Given the description of an element on the screen output the (x, y) to click on. 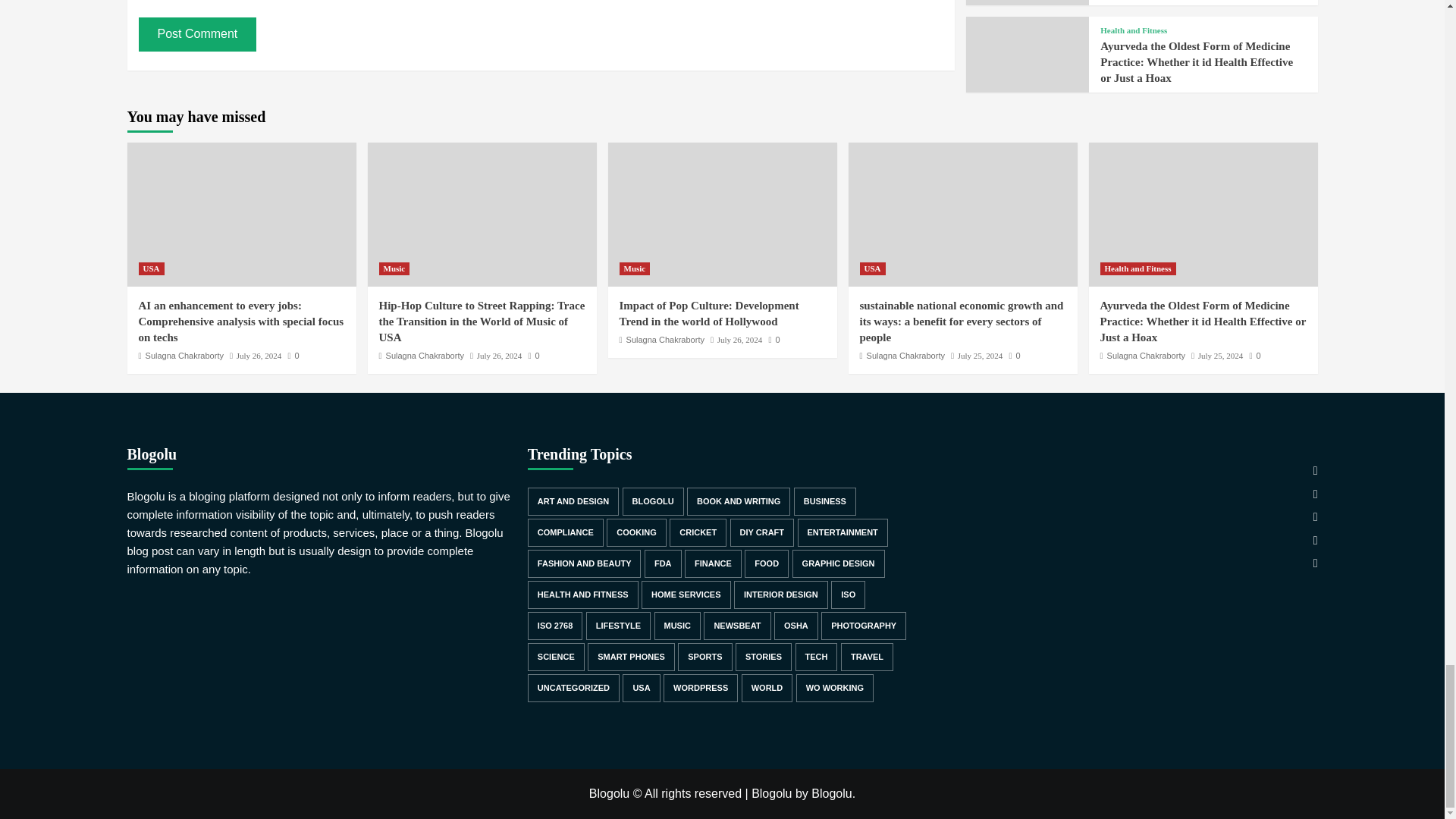
Post Comment (197, 33)
